Given the description of an element on the screen output the (x, y) to click on. 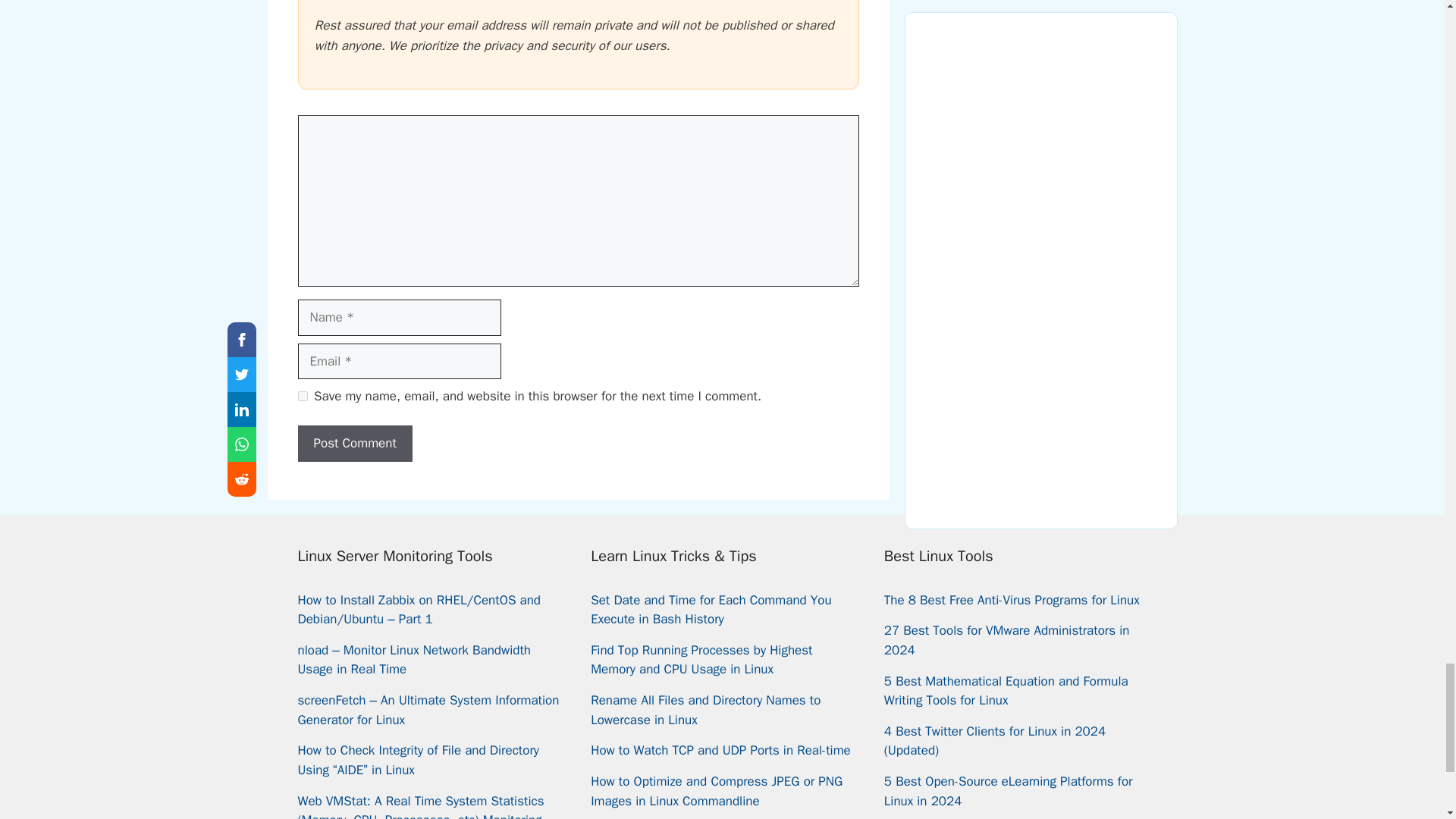
yes (302, 396)
Post Comment (354, 443)
